Given the description of an element on the screen output the (x, y) to click on. 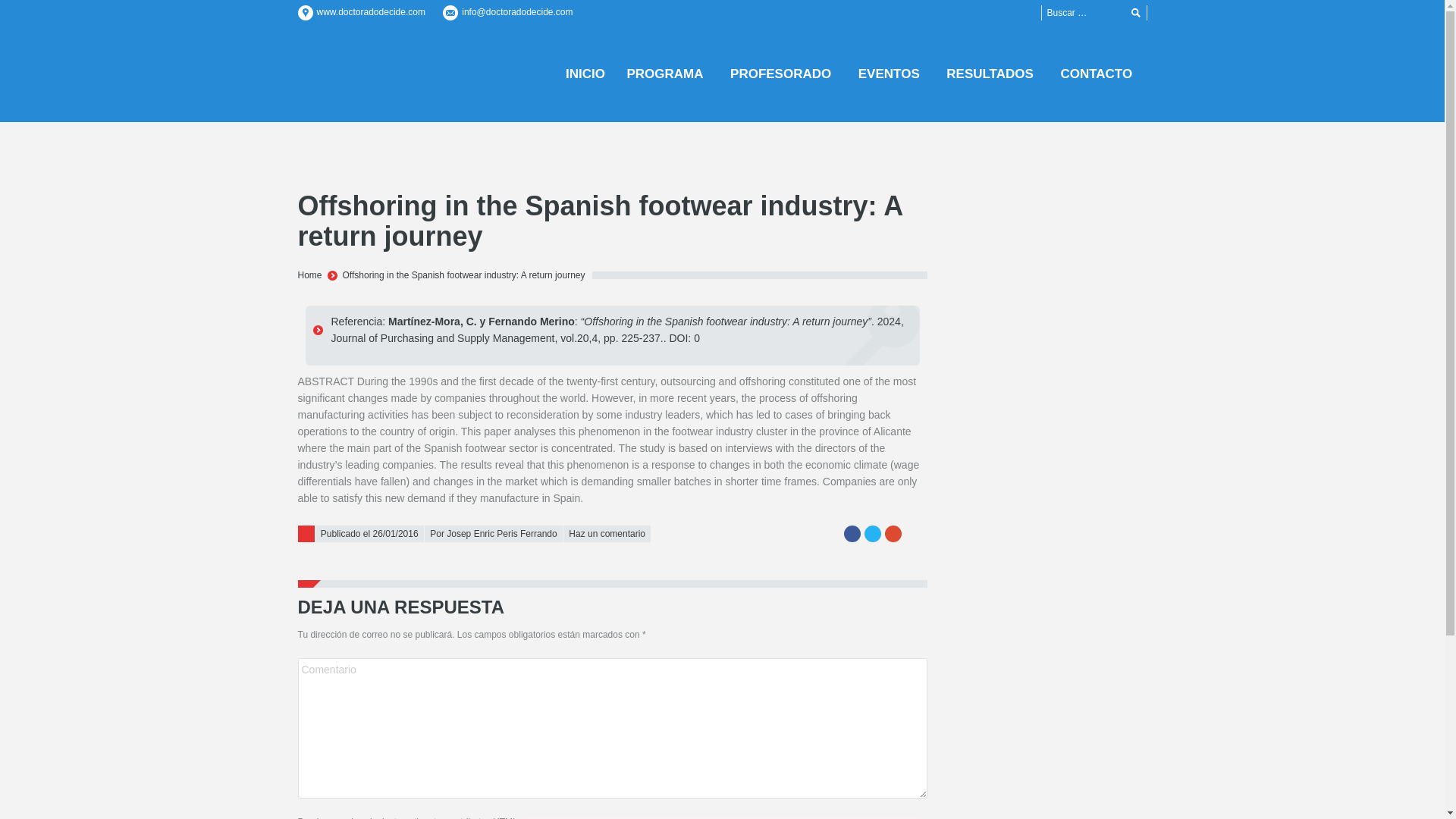
Publicar el comentario (72, 8)
Haz un comentario (606, 533)
9:17 am (369, 533)
HyperText Markup Language (505, 817)
Twitter (872, 533)
Home (309, 275)
EVENTOS (891, 73)
Por Josep Enric Peris Ferrando (493, 533)
PROGRAMA (667, 73)
Go! (1136, 13)
Twitter (872, 533)
Ver todas las entradas de Josep Enric Peris Ferrando (493, 533)
RESULTADOS (992, 73)
INICIO (585, 73)
